Given the description of an element on the screen output the (x, y) to click on. 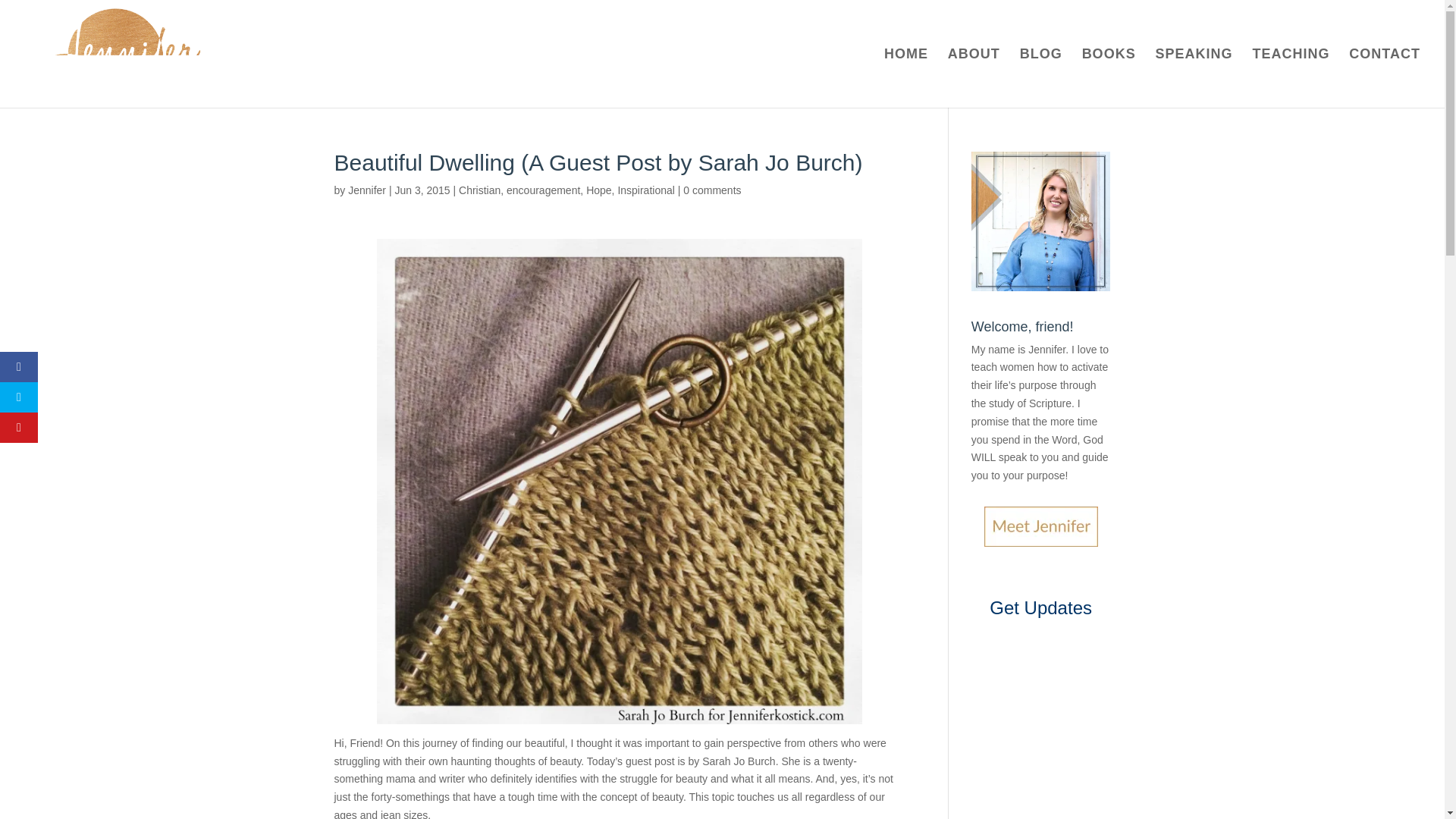
Inspirational (646, 190)
0 comments (711, 190)
Posts by Jennifer (366, 190)
TEACHING (1290, 77)
CONTACT (1385, 77)
Hope (598, 190)
encouragement (542, 190)
SPEAKING (1194, 77)
BOOKS (1108, 77)
Christian (479, 190)
